Given the description of an element on the screen output the (x, y) to click on. 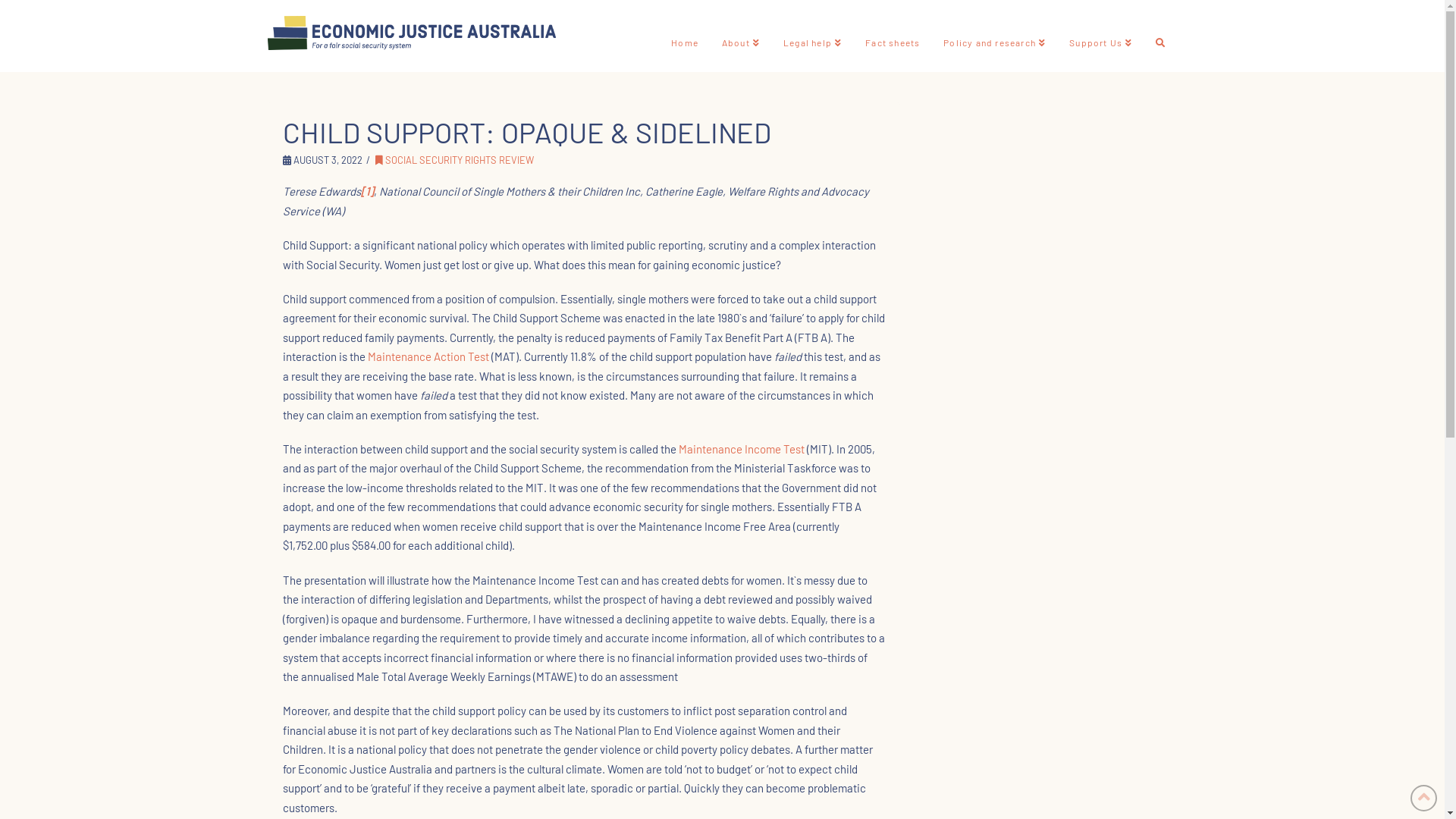
Support Us Element type: text (1100, 36)
Back to Top Element type: hover (1423, 797)
Legal help Element type: text (812, 36)
SOCIAL SECURITY RIGHTS REVIEW Element type: text (454, 159)
Maintenance Action Test Element type: text (427, 356)
Home Element type: text (683, 36)
About Element type: text (740, 36)
[1] Element type: text (366, 190)
Maintenance Income Test Element type: text (740, 448)
Policy and research Element type: text (994, 36)
Fact sheets Element type: text (892, 36)
